Given the description of an element on the screen output the (x, y) to click on. 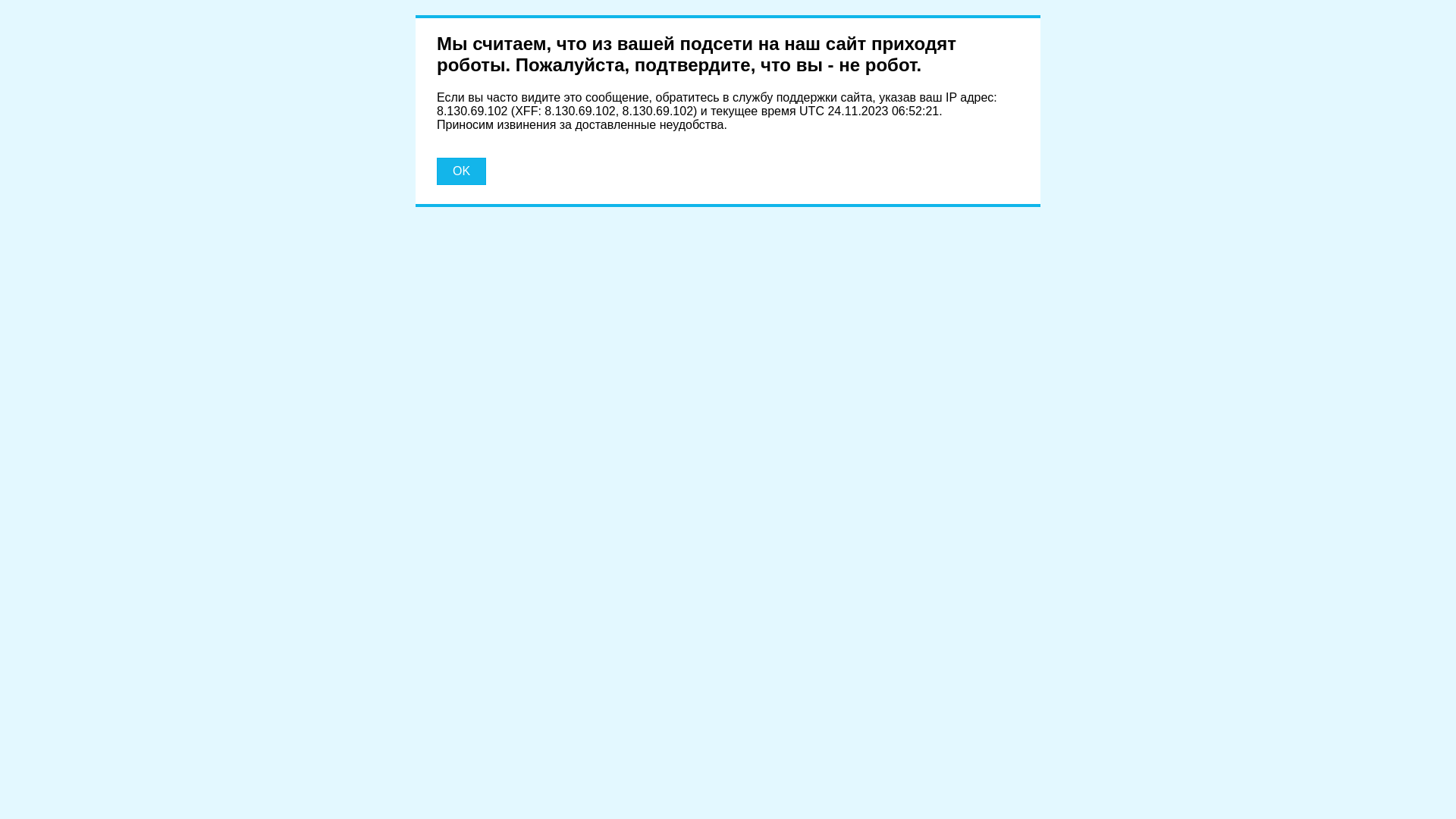
OK Element type: text (461, 171)
